Given the description of an element on the screen output the (x, y) to click on. 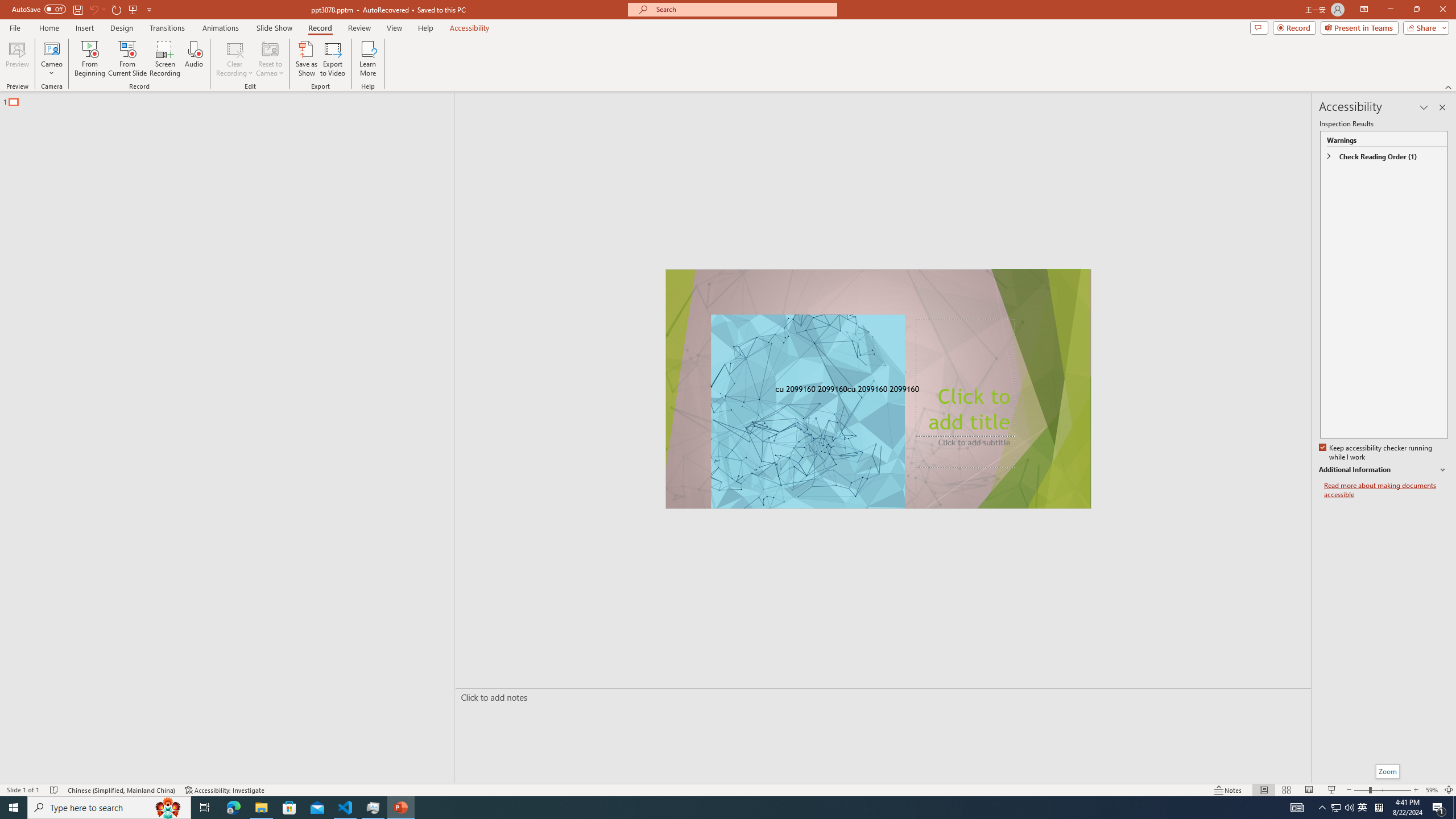
Typora (163, 254)
Notion (917, 800)
Google Chrome (729, 800)
Something.md (1405, 557)
CloudCompare (163, 102)
Notion (32, 102)
